Given the description of an element on the screen output the (x, y) to click on. 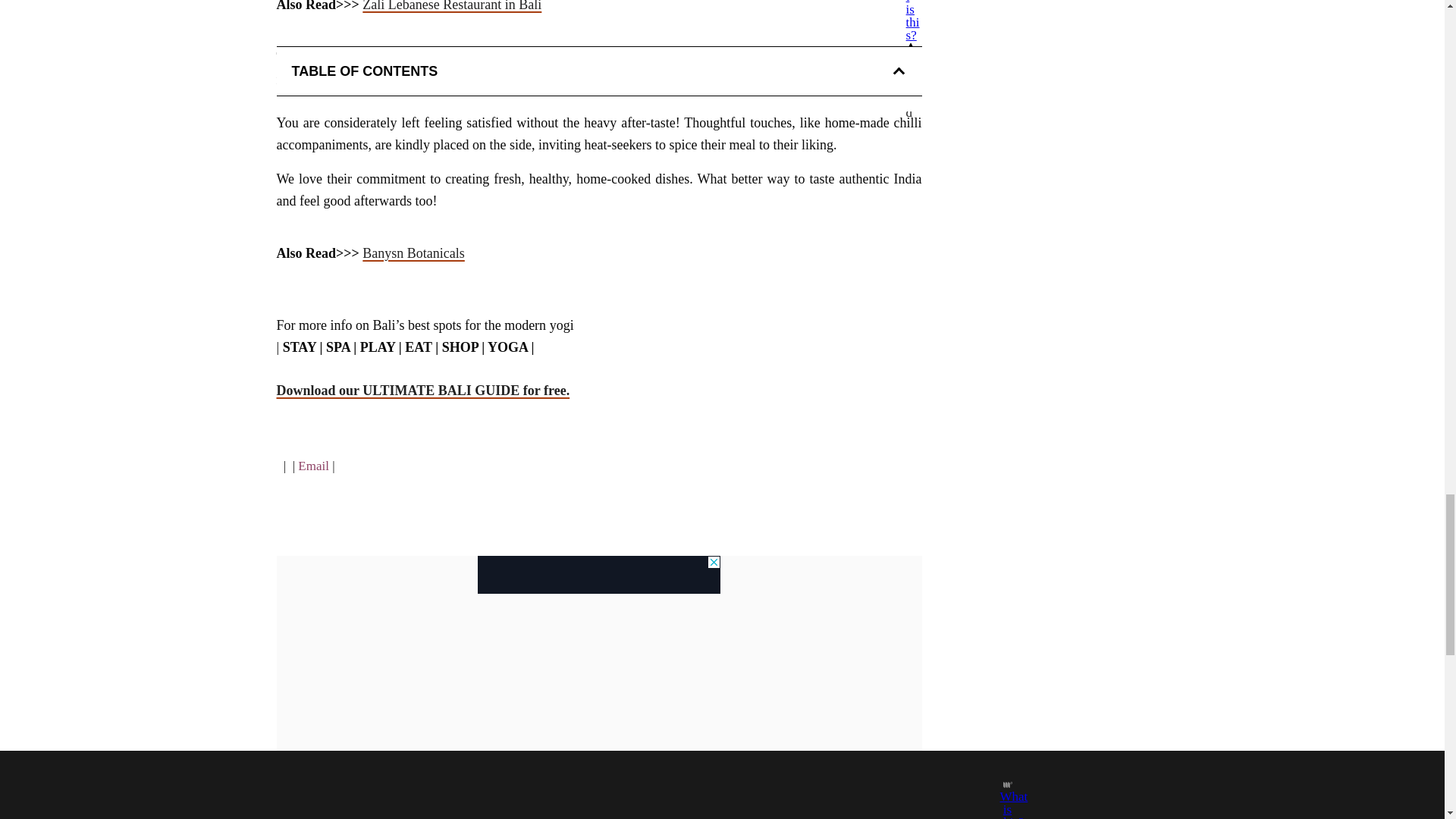
3rd party ad content (598, 574)
